Given the description of an element on the screen output the (x, y) to click on. 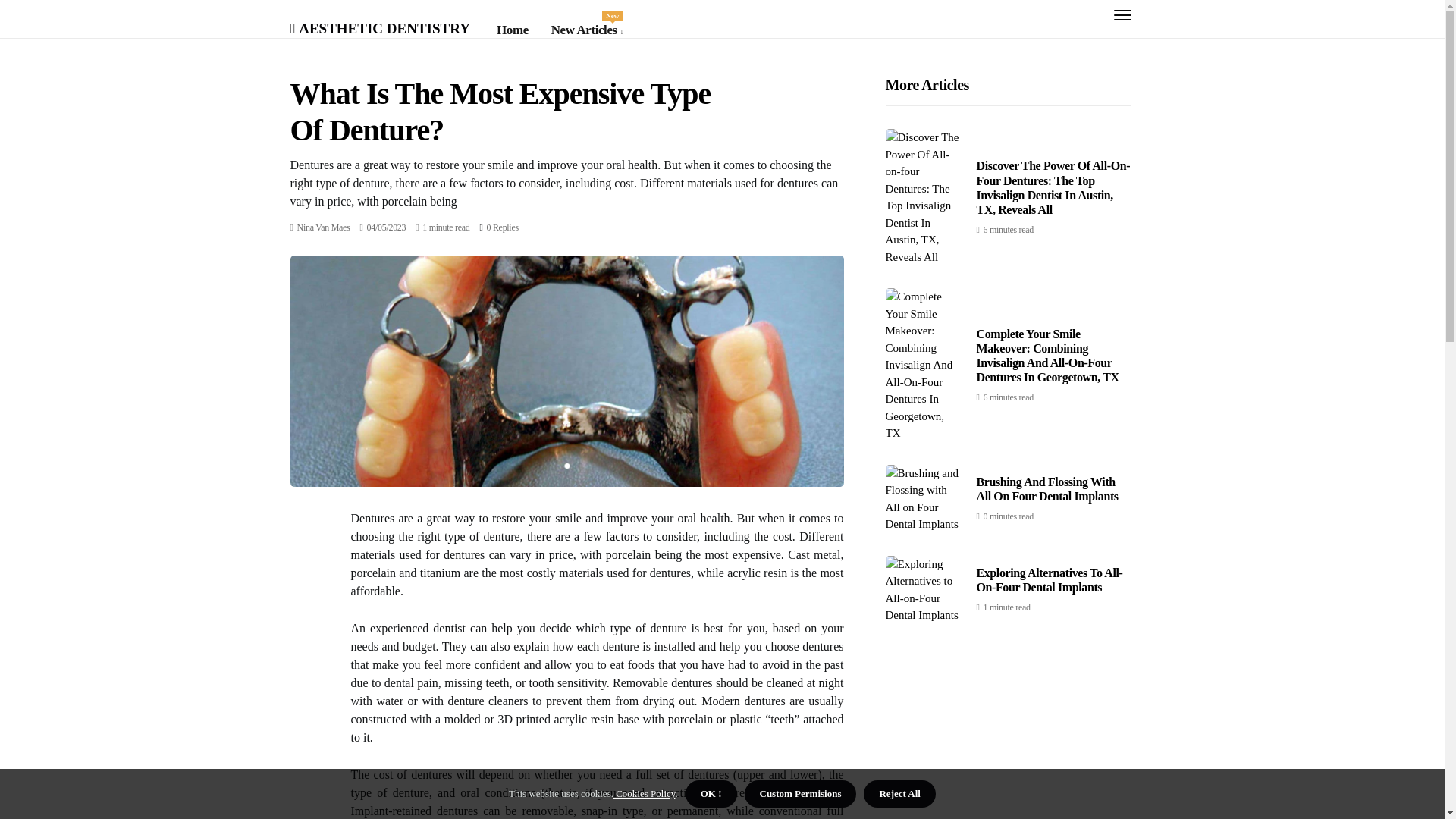
Posts by Nina Van Maes (323, 226)
Aesthetic Dentistry (379, 26)
1 (587, 30)
0 Replies (1047, 488)
Nina Van Maes (502, 226)
Exploring Alternatives To All-On-Four Dental Implants (323, 226)
